Given the description of an element on the screen output the (x, y) to click on. 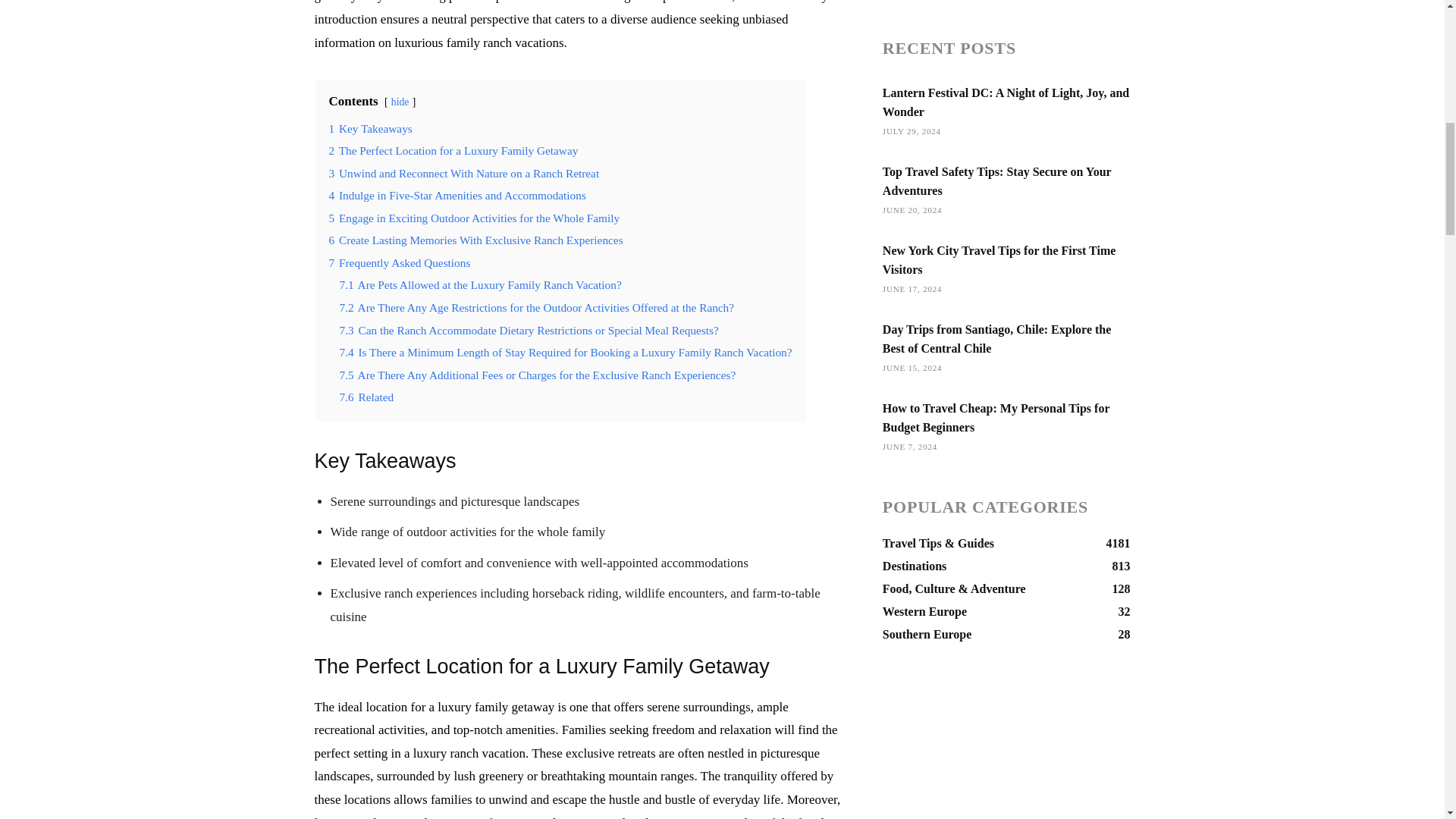
2 The Perfect Location for a Luxury Family Getaway (453, 150)
7.1 Are Pets Allowed at the Luxury Family Ranch Vacation? (480, 284)
hide (400, 101)
7.6 Related (366, 396)
3 Unwind and Reconnect With Nature on a Ranch Retreat (464, 173)
7 Frequently Asked Questions (399, 262)
5 Engage in Exciting Outdoor Activities for the Whole Family (474, 217)
